Given the description of an element on the screen output the (x, y) to click on. 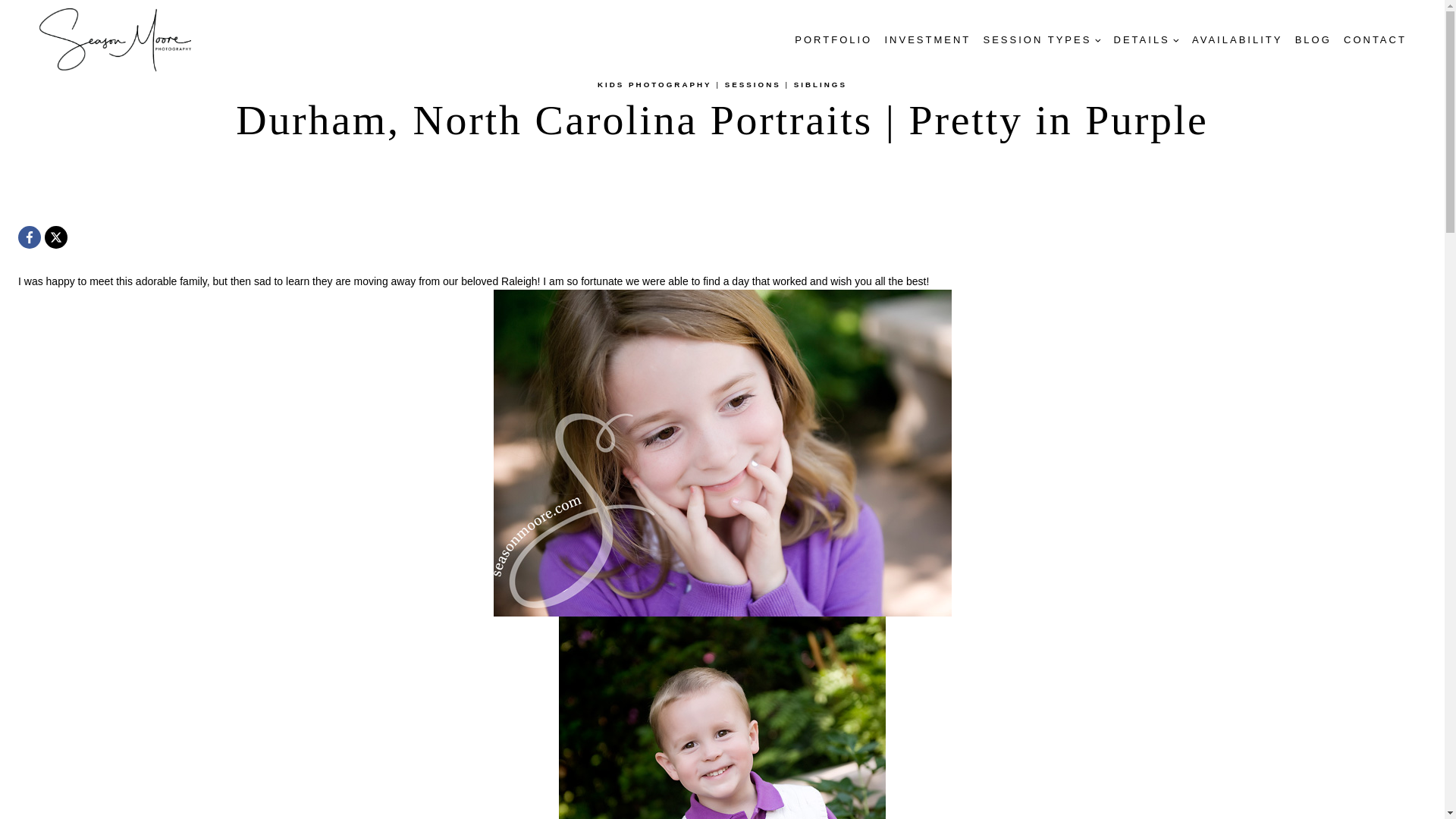
SIBLINGS (820, 84)
AVAILABILITY (1237, 39)
INVESTMENT (926, 39)
PORTFOLIO (833, 39)
KIDS PHOTOGRAPHY (653, 84)
BLOG (1313, 39)
Boy outside purple (722, 717)
CONTACT (1375, 39)
DETAILS (1145, 39)
SESSIONS (752, 84)
